Given the description of an element on the screen output the (x, y) to click on. 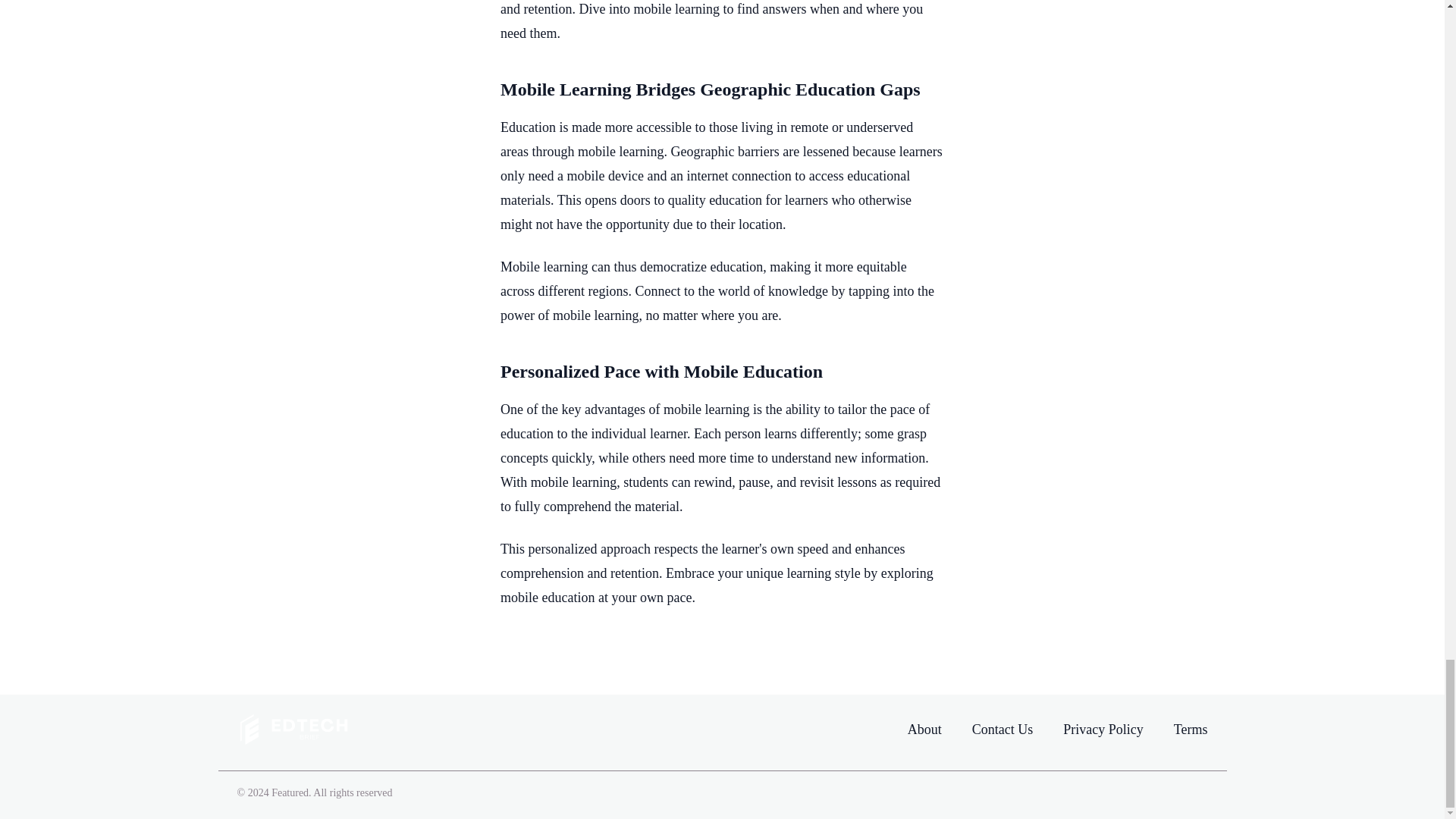
Contact Us (1002, 729)
Privacy Policy (1102, 729)
Terms (1190, 729)
About (924, 729)
